Given the description of an element on the screen output the (x, y) to click on. 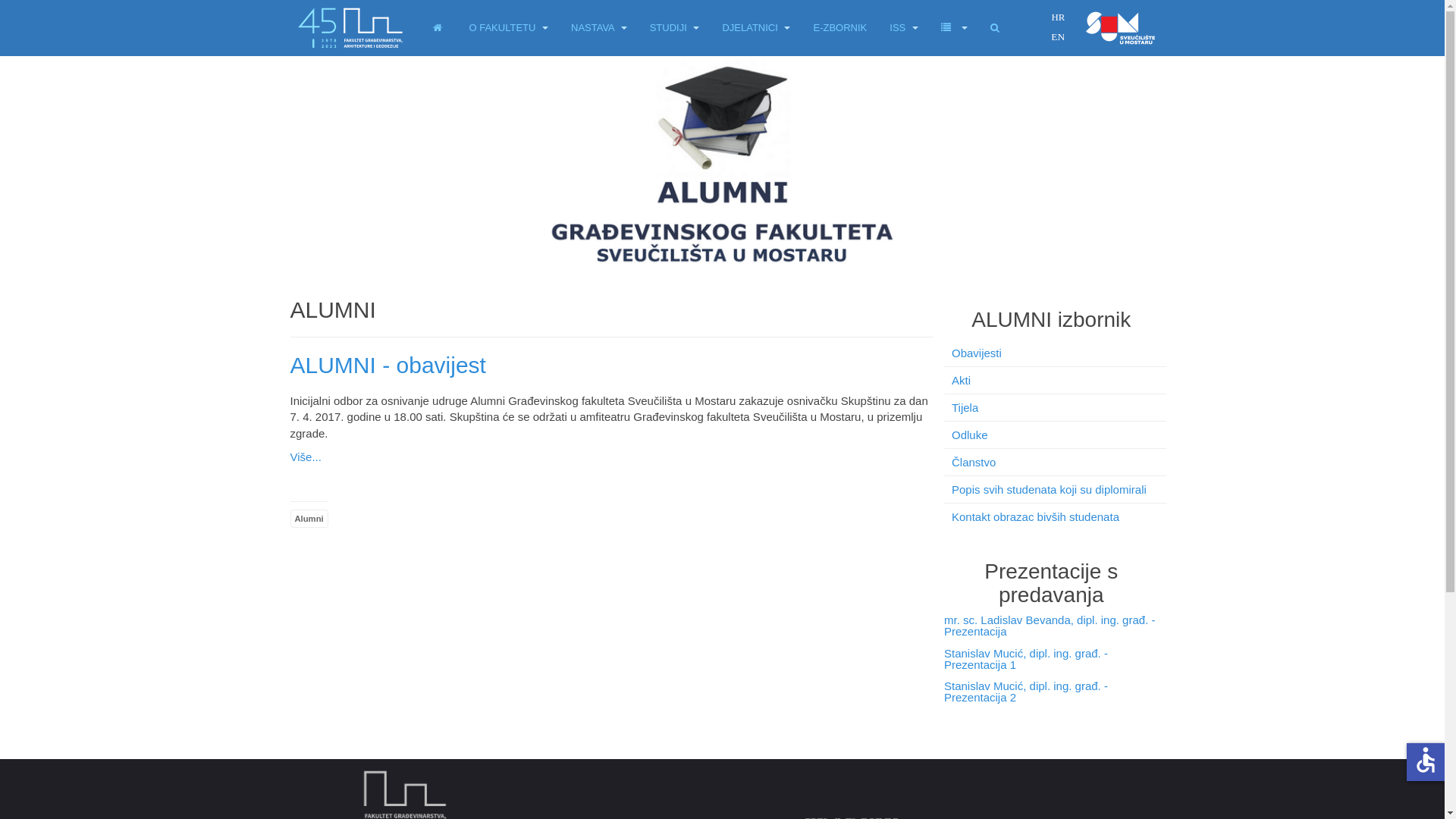
DJELATNICI Element type: text (755, 27)
Obavijesti Element type: text (1055, 352)
STUDIJI Element type: text (674, 27)
NASTAVA Element type: text (599, 27)
Popis svih studenata koji su diplomirali Element type: text (1055, 489)
ISS Element type: text (903, 27)
Hrvatski Element type: hover (1057, 16)
Akti Element type: text (1055, 380)
English Element type: hover (1057, 36)
Odluke Element type: text (1055, 434)
Alumni Element type: text (308, 518)
E-ZBORNIK Element type: text (839, 27)
Tijela Element type: text (1055, 407)
O FAKULTETU Element type: text (508, 27)
Naslovnica Element type: hover (438, 27)
ALUMNI - obavijest Element type: text (387, 365)
